Given the description of an element on the screen output the (x, y) to click on. 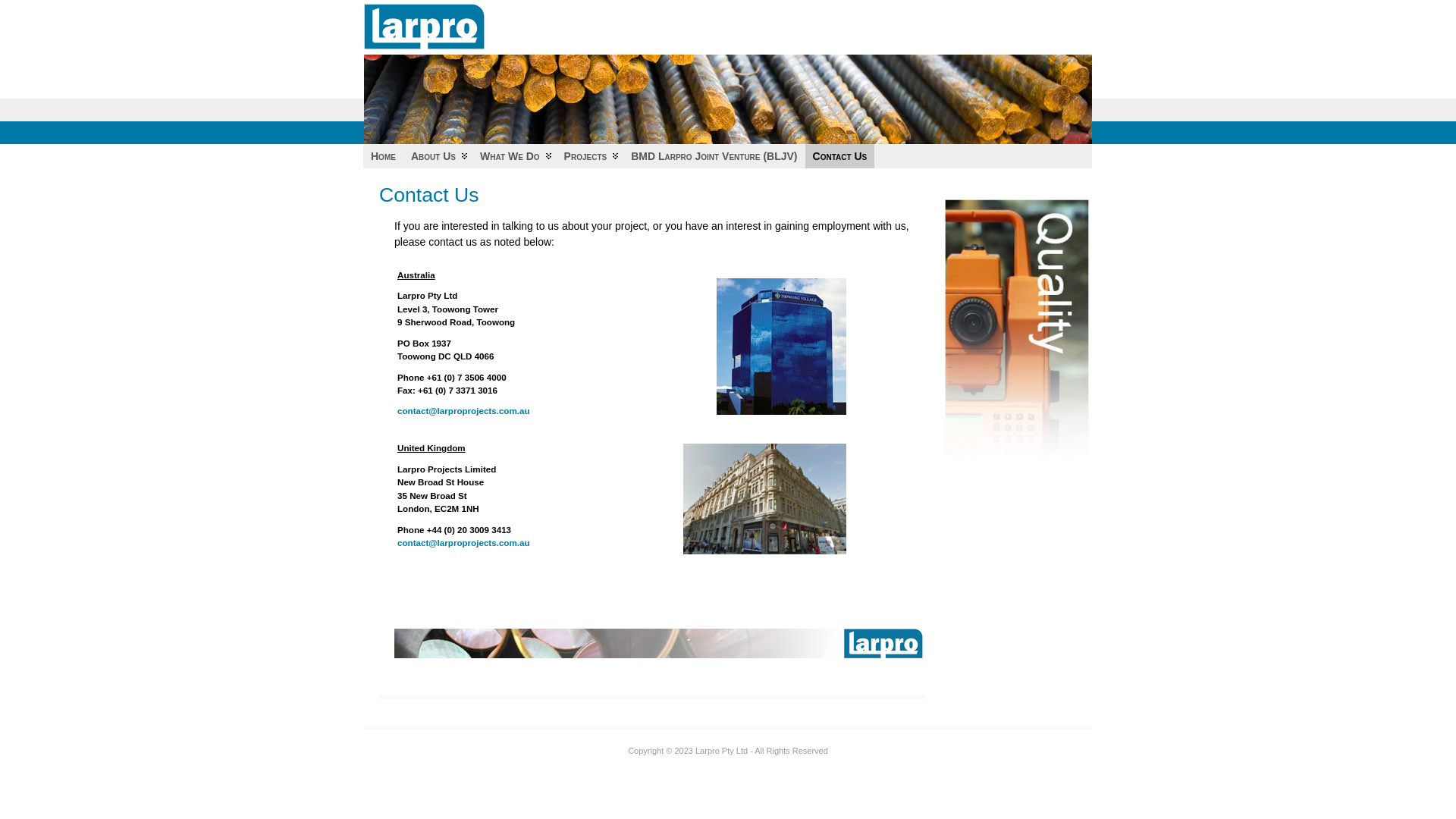
Home Element type: text (383, 156)
Contact Us Element type: text (840, 156)
contact@larproprojects.com.au Element type: text (463, 542)
BMD Larpro Joint Venture (BLJV) Element type: text (713, 156)
contact@larproprojects.com.au Element type: text (463, 410)
Projects Element type: text (590, 156)
What We Do Element type: text (514, 156)
About Us Element type: text (437, 156)
